Given the description of an element on the screen output the (x, y) to click on. 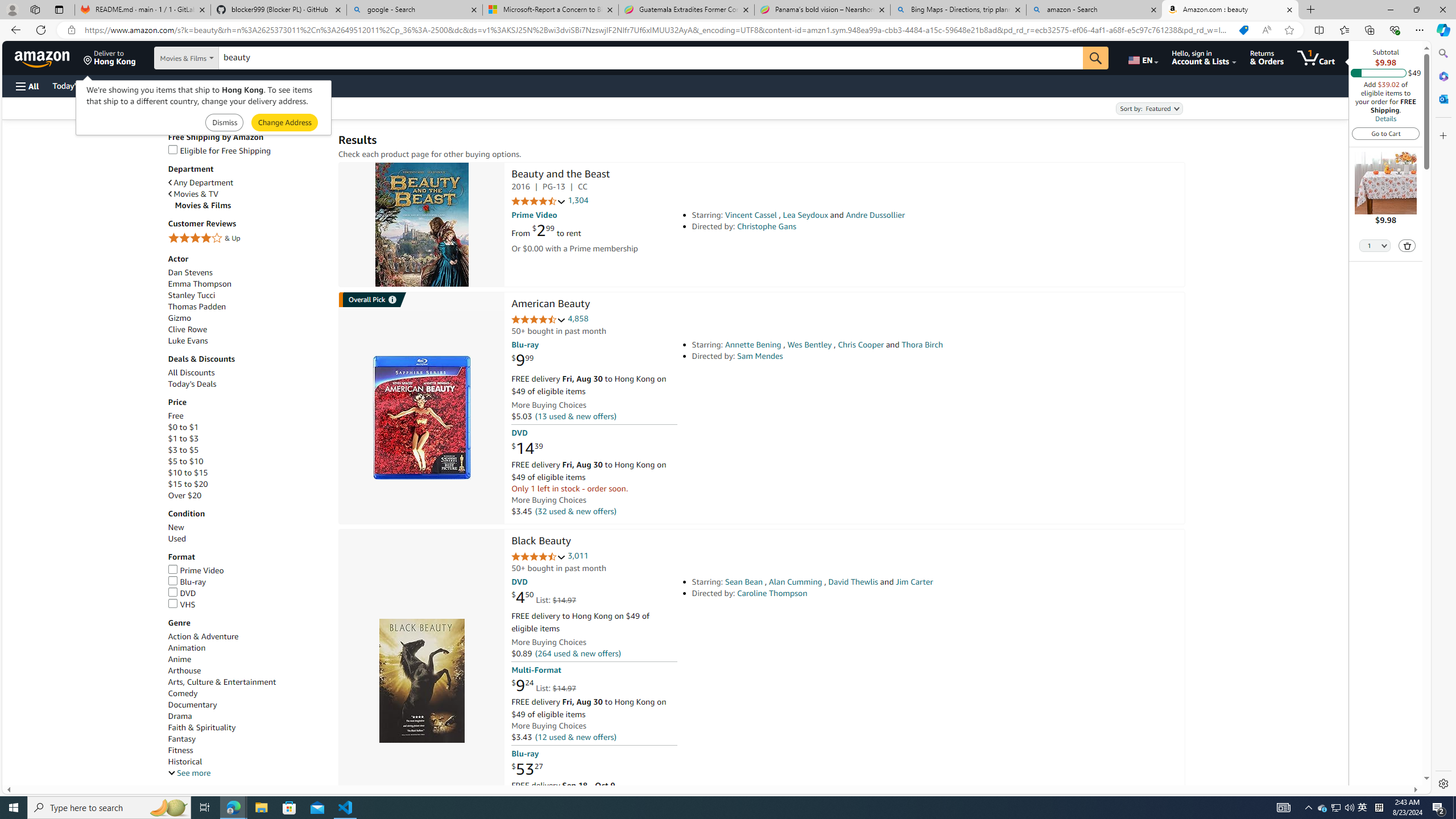
4 Stars & Up& Up (247, 238)
$1 to $3 (247, 438)
$15 to $20 (247, 483)
Hello, sign in Account & Lists (1203, 57)
Eligible for Free Shipping (218, 150)
Sean Bean (743, 581)
Registry (205, 85)
Movies & Films (250, 205)
Action & Adventure (247, 636)
Free (175, 415)
Customer Service (145, 85)
